Given the description of an element on the screen output the (x, y) to click on. 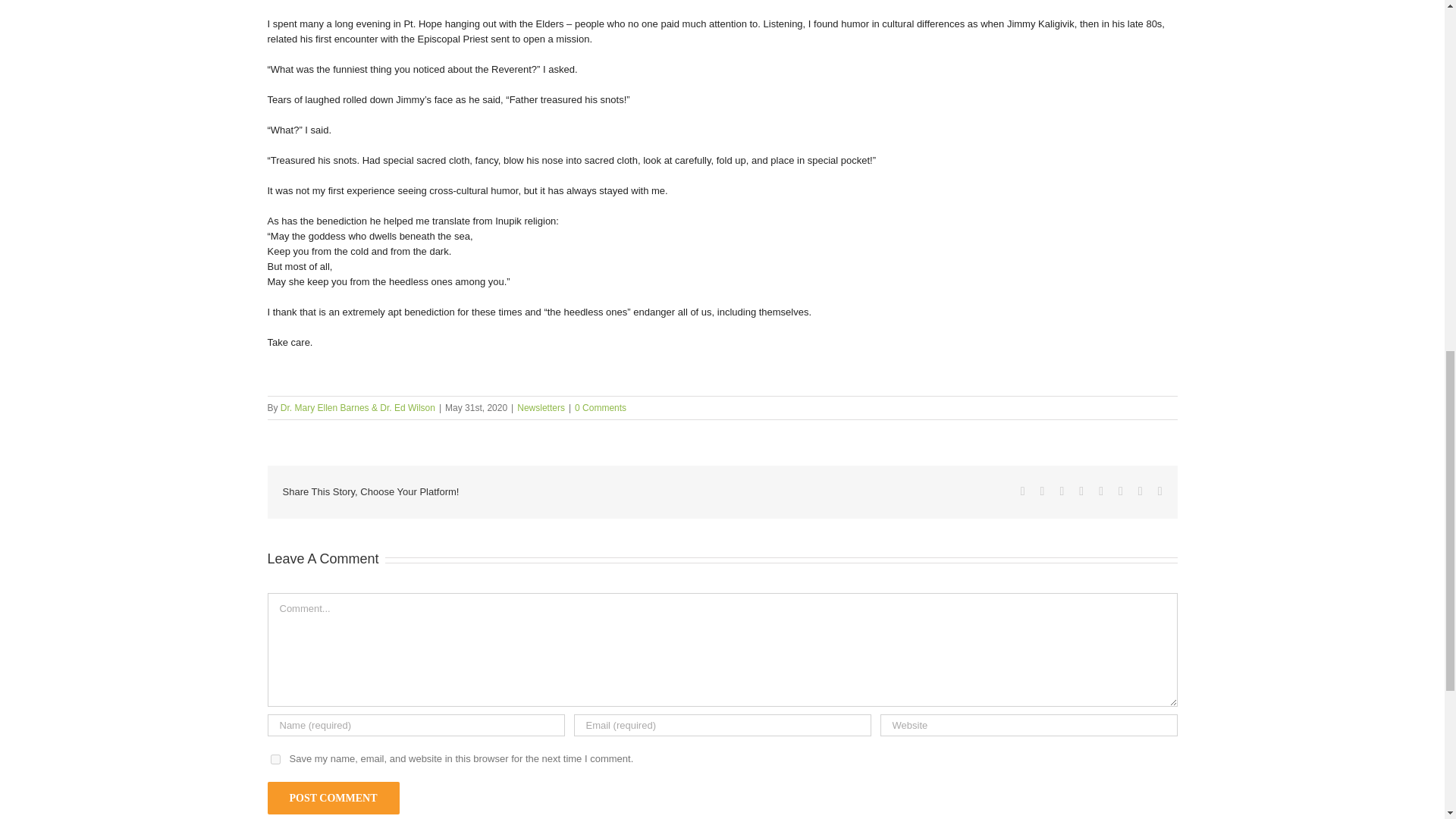
Post Comment (332, 798)
yes (274, 759)
